Given the description of an element on the screen output the (x, y) to click on. 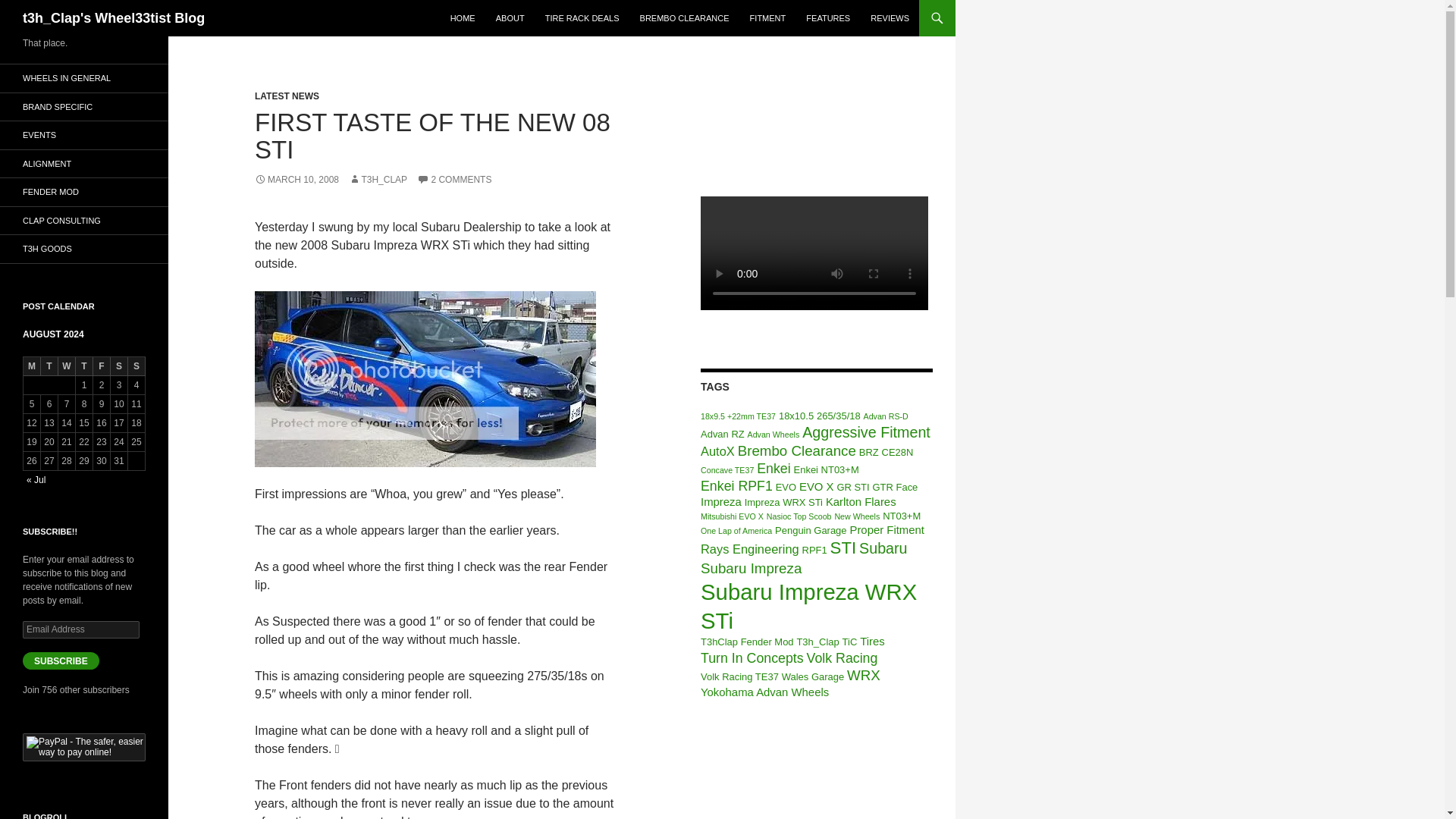
ABOUT (510, 18)
Advan RZ (722, 433)
Monday (31, 366)
REVIEWS (889, 18)
AutoX (717, 450)
x (424, 378)
MARCH 10, 2008 (296, 179)
LATEST NEWS (286, 95)
HOME (462, 18)
BREMBO CLEARANCE (684, 18)
